Given the description of an element on the screen output the (x, y) to click on. 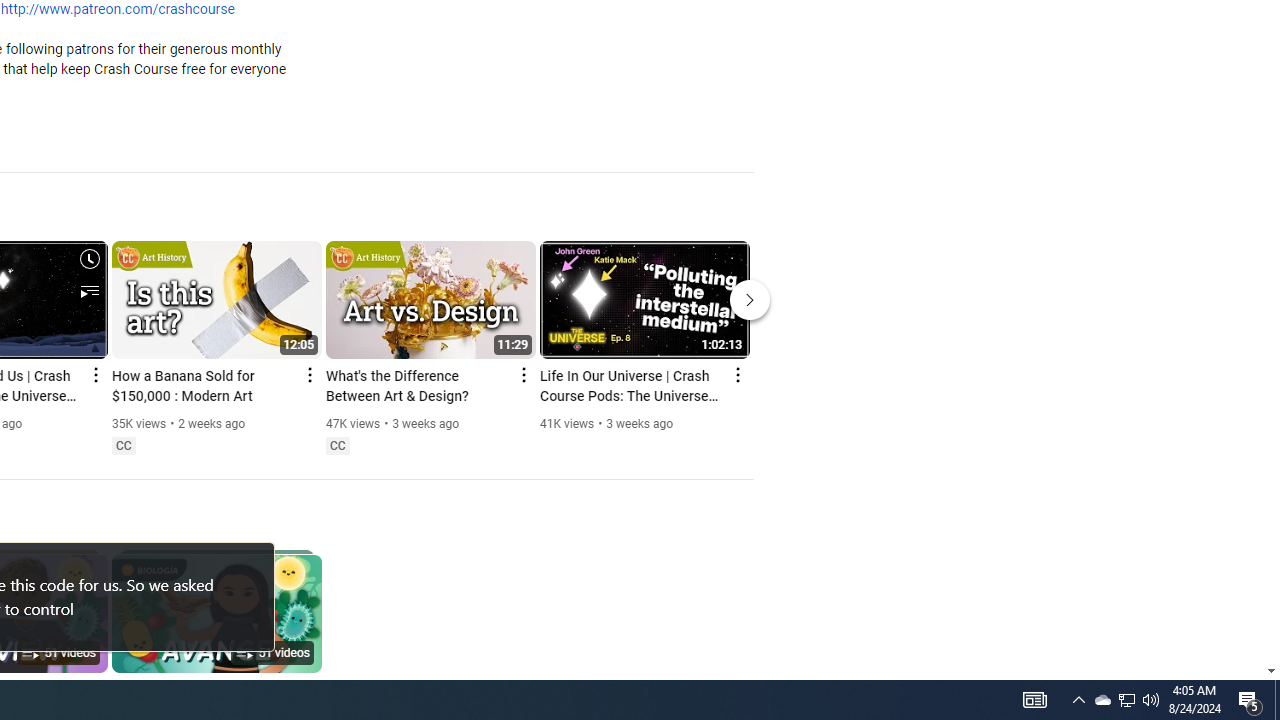
Closed captions (337, 446)
http://www.patreon.com/crashcourse (117, 10)
Action menu (736, 374)
Next (749, 299)
